Given the description of an element on the screen output the (x, y) to click on. 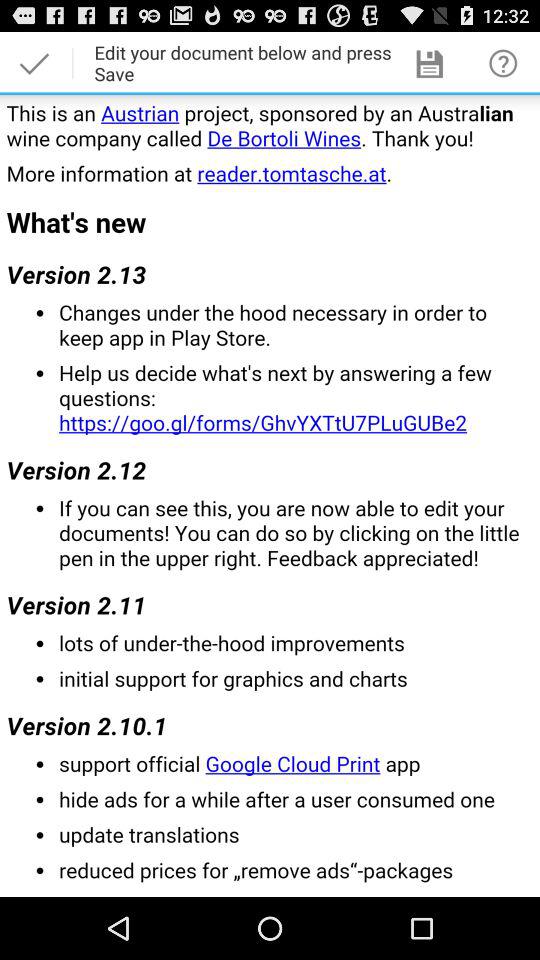
project information (270, 495)
